Given the description of an element on the screen output the (x, y) to click on. 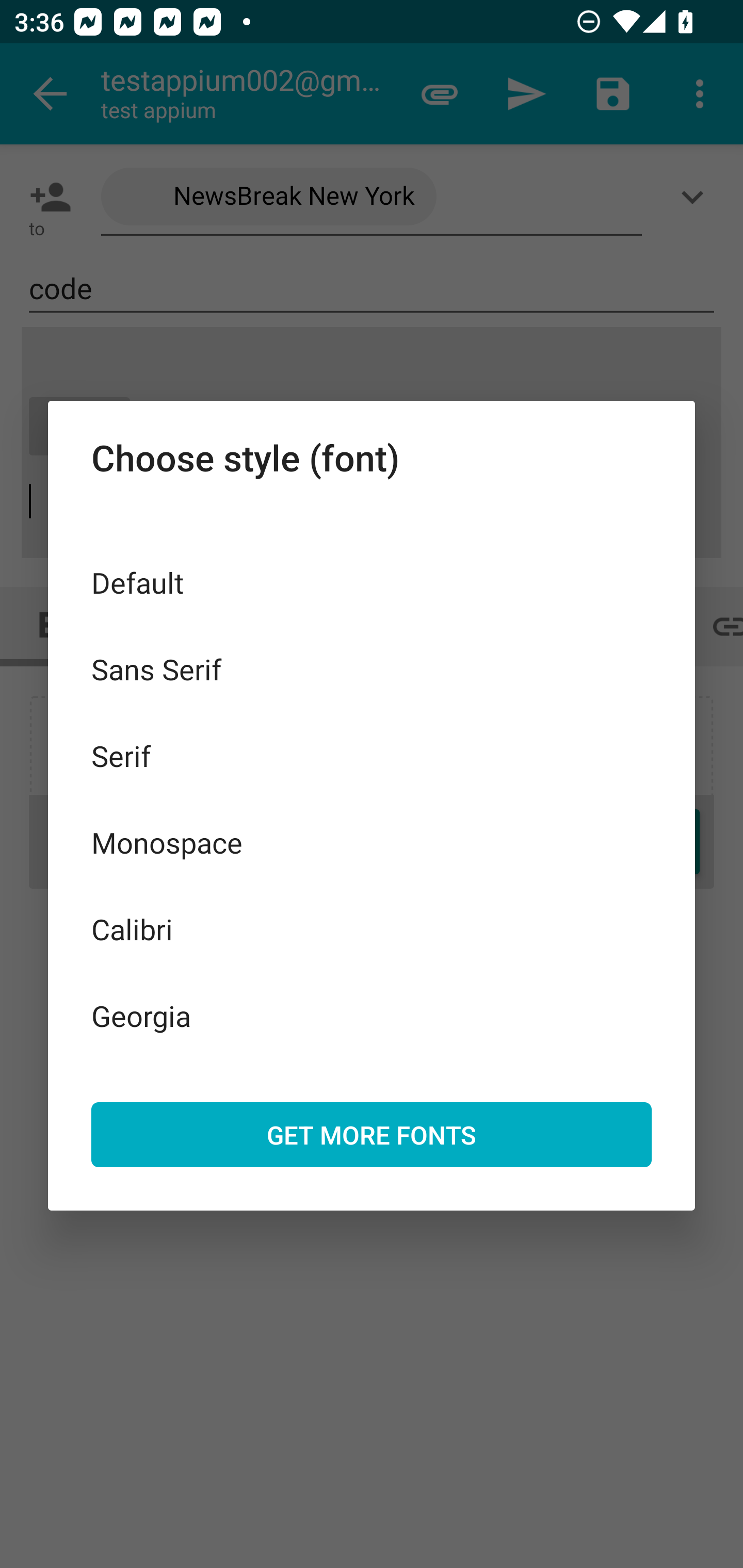
Default (371, 582)
Sans Serif (371, 668)
Serif (371, 755)
Monospace (371, 842)
Calibri (371, 928)
Georgia (371, 1015)
GET MORE FONTS (371, 1134)
